Given the description of an element on the screen output the (x, y) to click on. 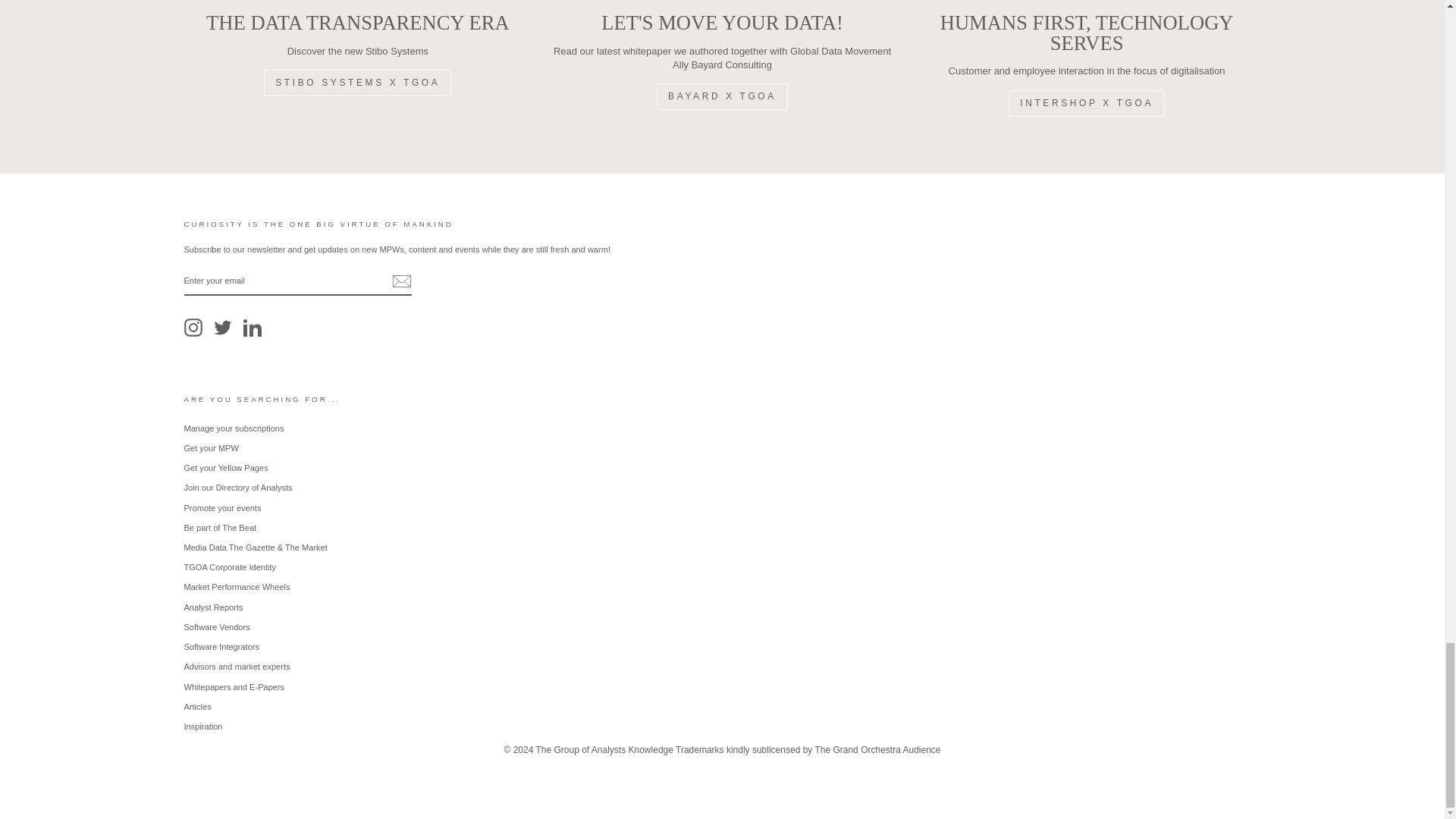
The Group of Analysts on LinkedIn (251, 327)
The Group of Analysts on Twitter (222, 327)
The Group of Analysts on Instagram (192, 327)
